Given the description of an element on the screen output the (x, y) to click on. 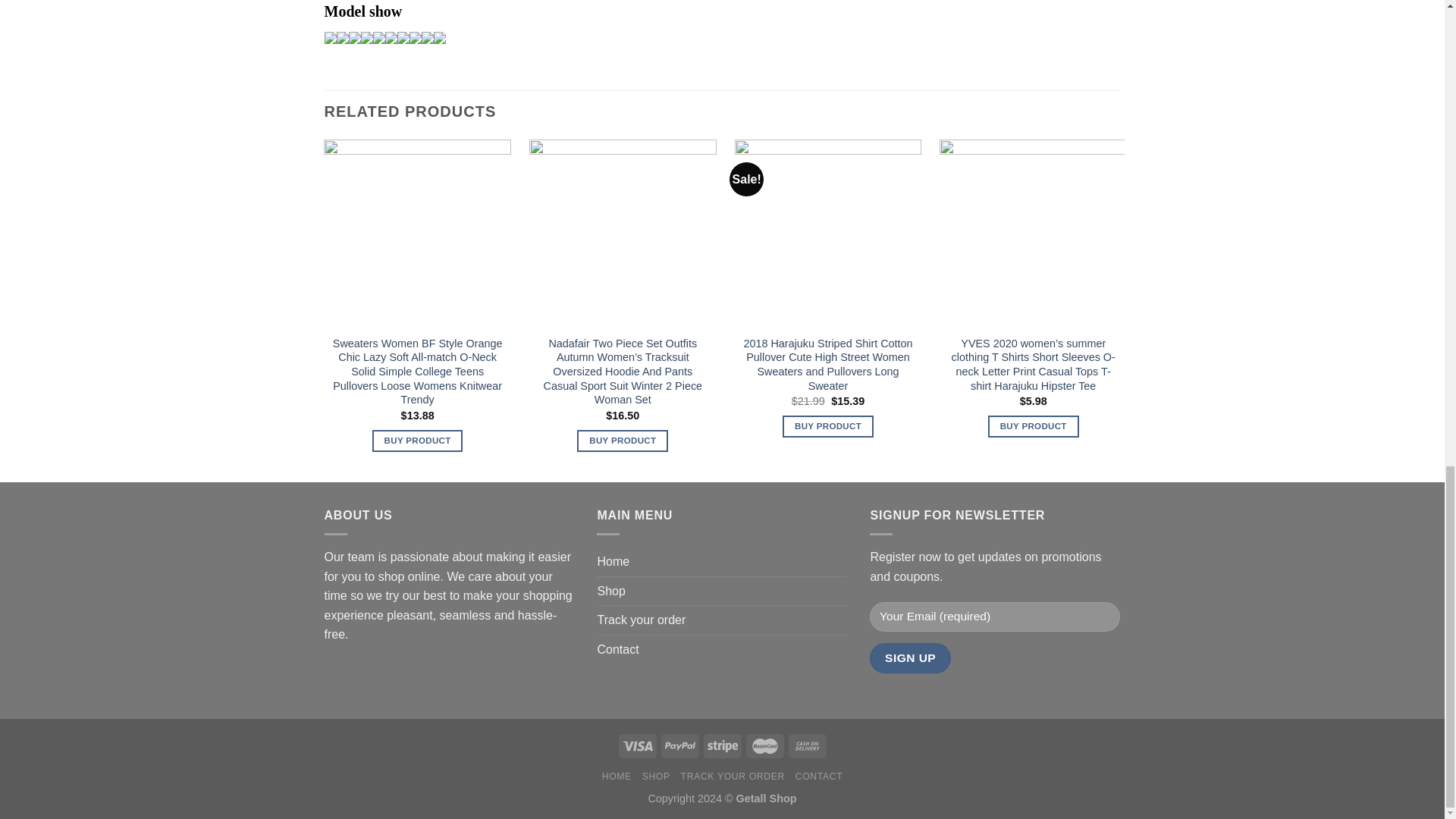
Sign Up (909, 657)
